Given the description of an element on the screen output the (x, y) to click on. 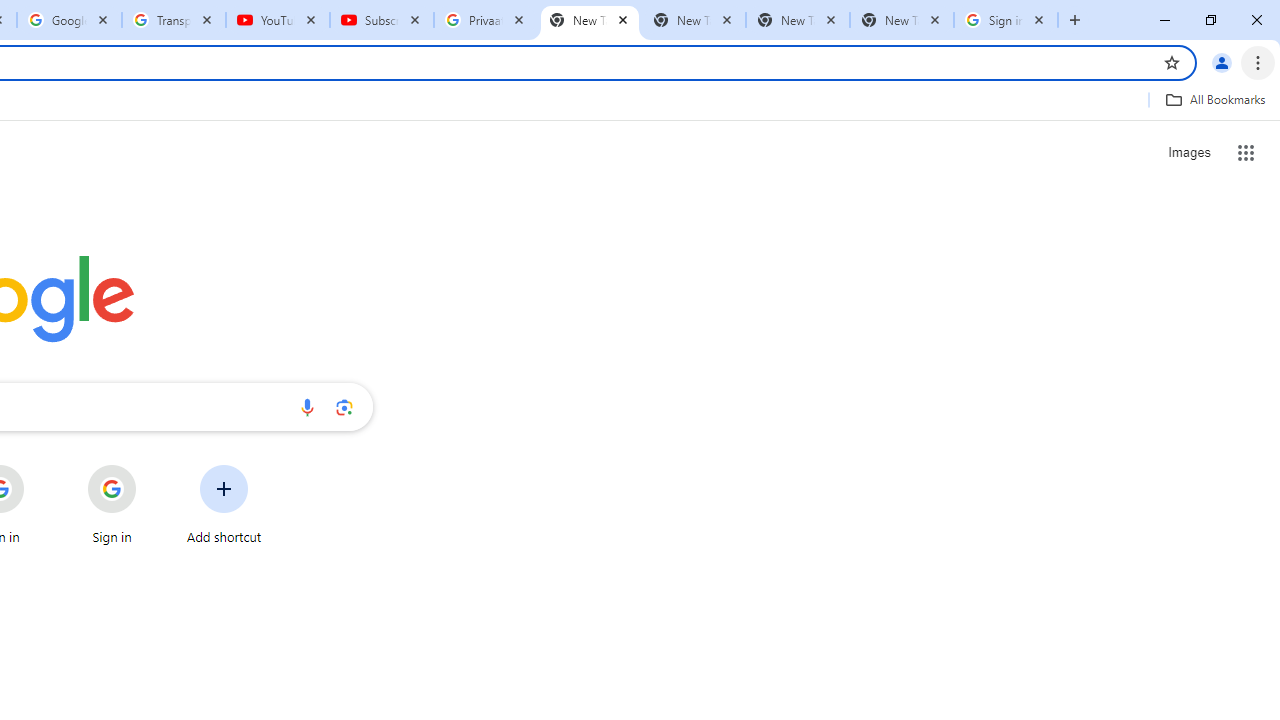
Subscriptions - YouTube (381, 20)
